Given the description of an element on the screen output the (x, y) to click on. 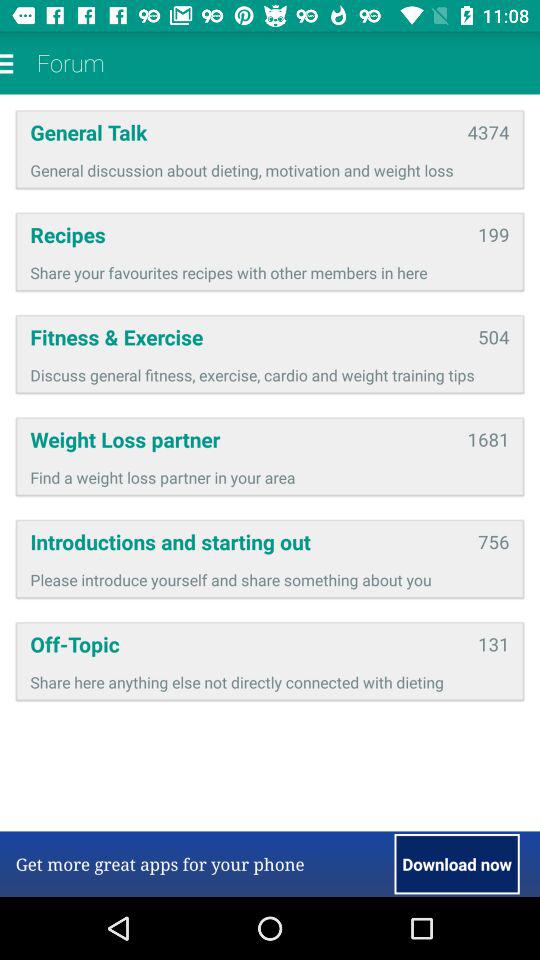
choose introductions and starting item (247, 541)
